Given the description of an element on the screen output the (x, y) to click on. 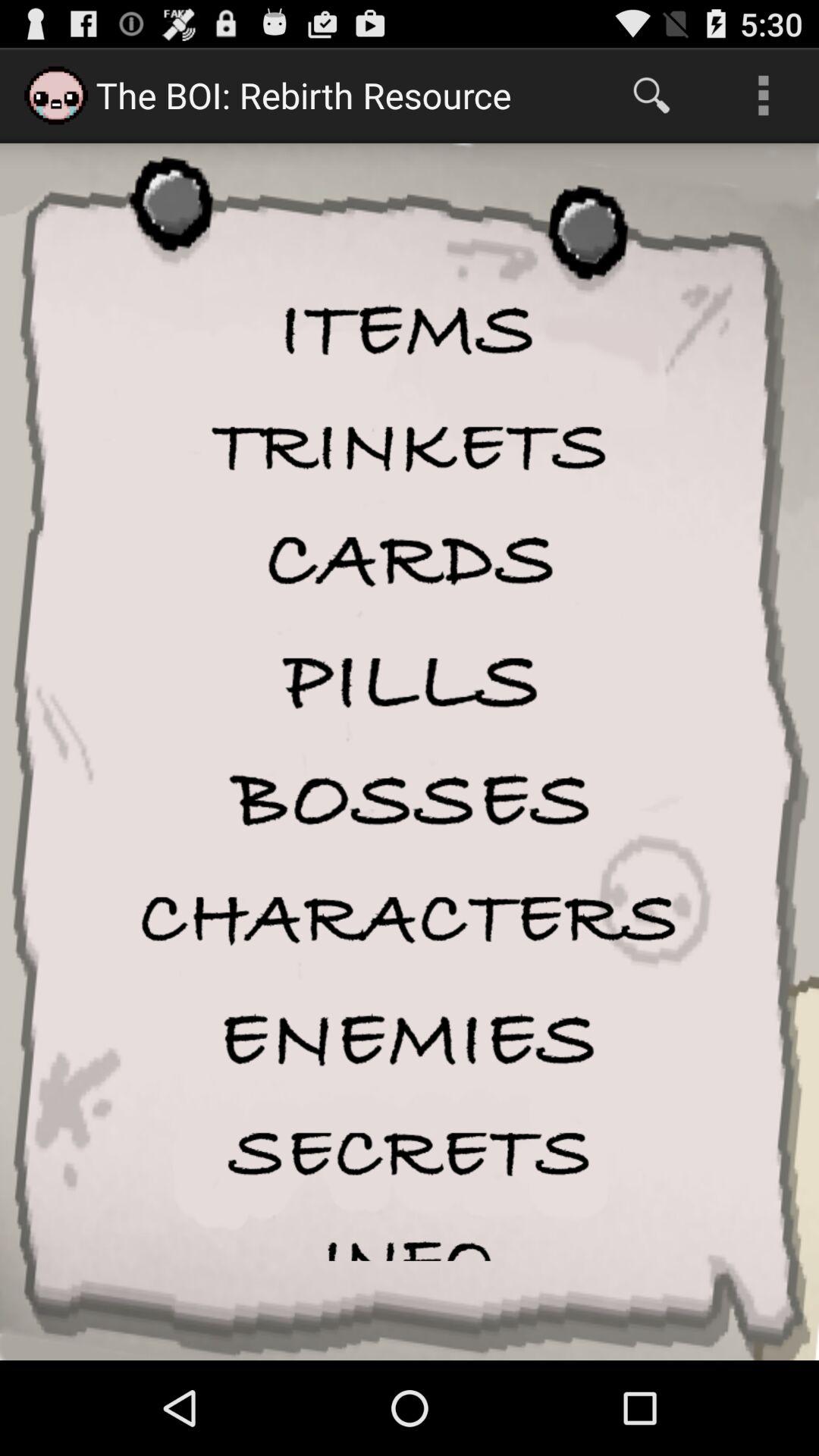
bosses icon (409, 800)
